Given the description of an element on the screen output the (x, y) to click on. 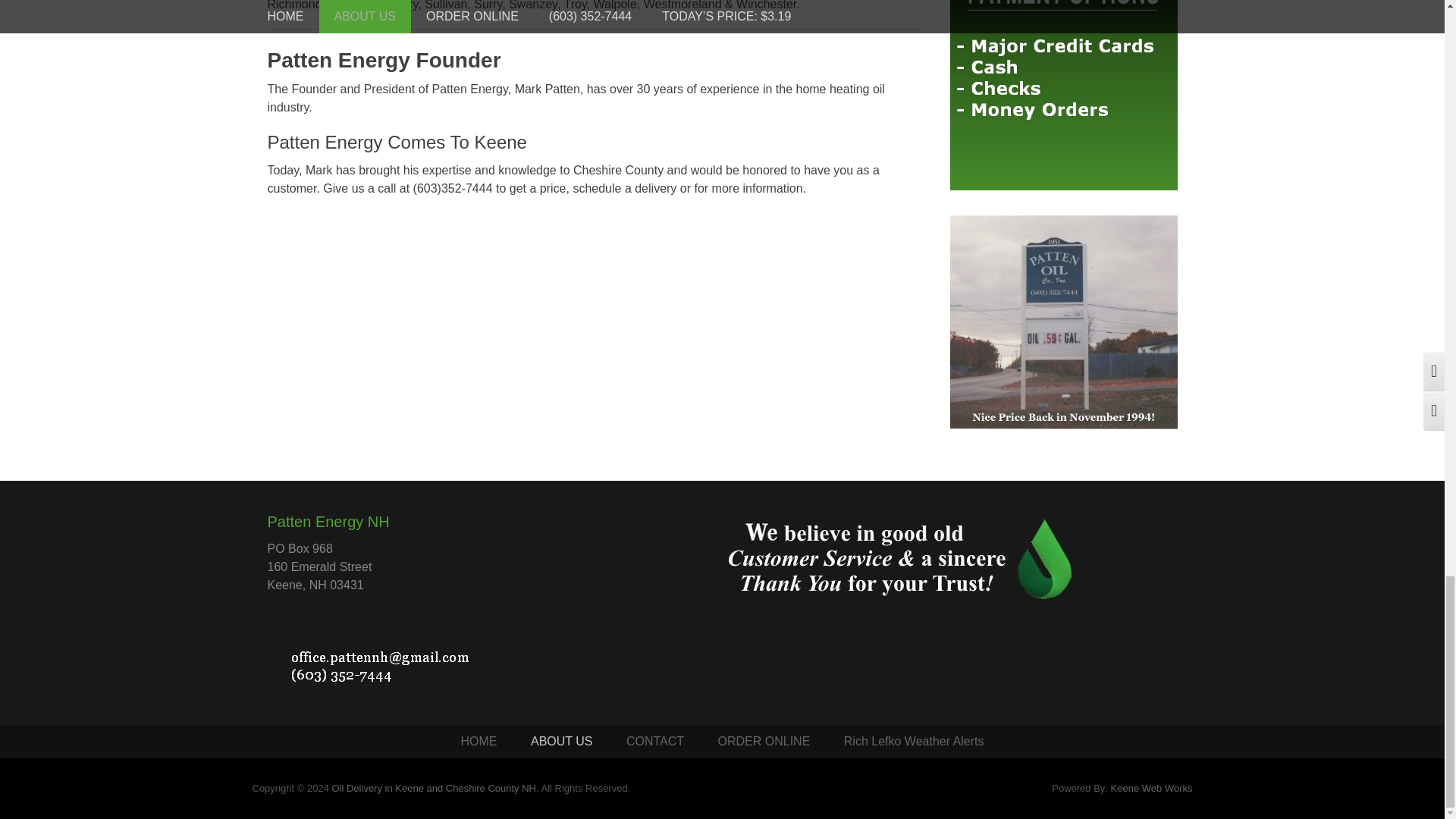
ABOUT US (561, 741)
Rich Lefko Weather Alerts (913, 741)
CONTACT (654, 741)
Oil Delivery in Keene and Cheshire County NH (433, 787)
Keene Web Works (1151, 787)
ORDER ONLINE (764, 741)
HOME (478, 741)
